Given the description of an element on the screen output the (x, y) to click on. 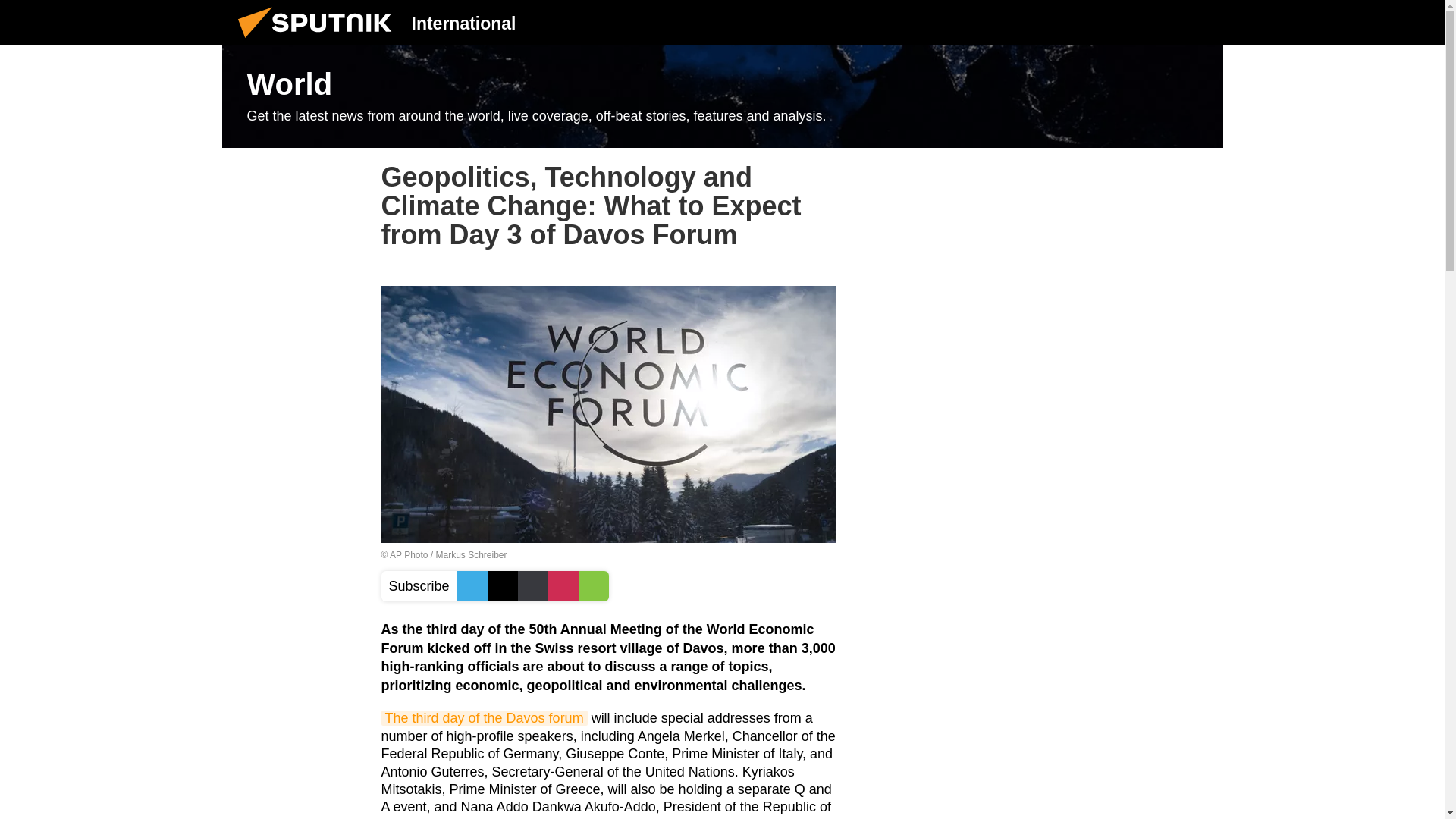
Sputnik International (319, 41)
Authorization (1123, 22)
World (722, 96)
Chats (1199, 22)
